Given the description of an element on the screen output the (x, y) to click on. 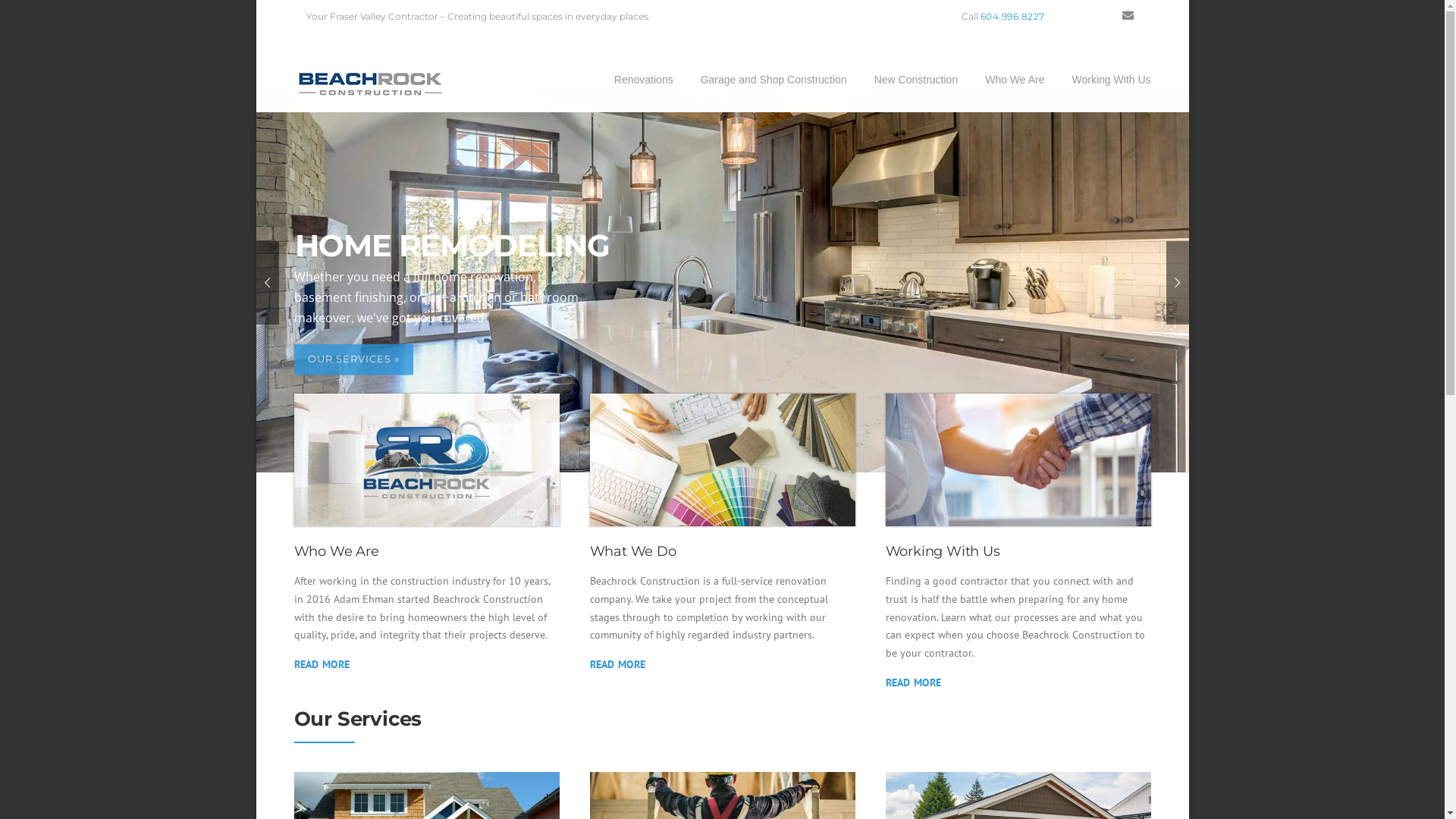
Garage and Shop Construction Element type: text (773, 85)
READ MORE Element type: text (322, 664)
Instagram Element type: hover (1103, 15)
Facebook Element type: hover (1079, 15)
Working With Us Element type: hover (1018, 459)
Working With Us Element type: text (1104, 85)
Who We Are Element type: text (1014, 85)
Beachrock Construction Element type: hover (369, 83)
READ MORE Element type: text (617, 664)
New Construction Element type: text (916, 85)
Renovations Element type: text (643, 85)
READ MORE Element type: text (913, 682)
Email Element type: hover (1127, 15)
